Given the description of an element on the screen output the (x, y) to click on. 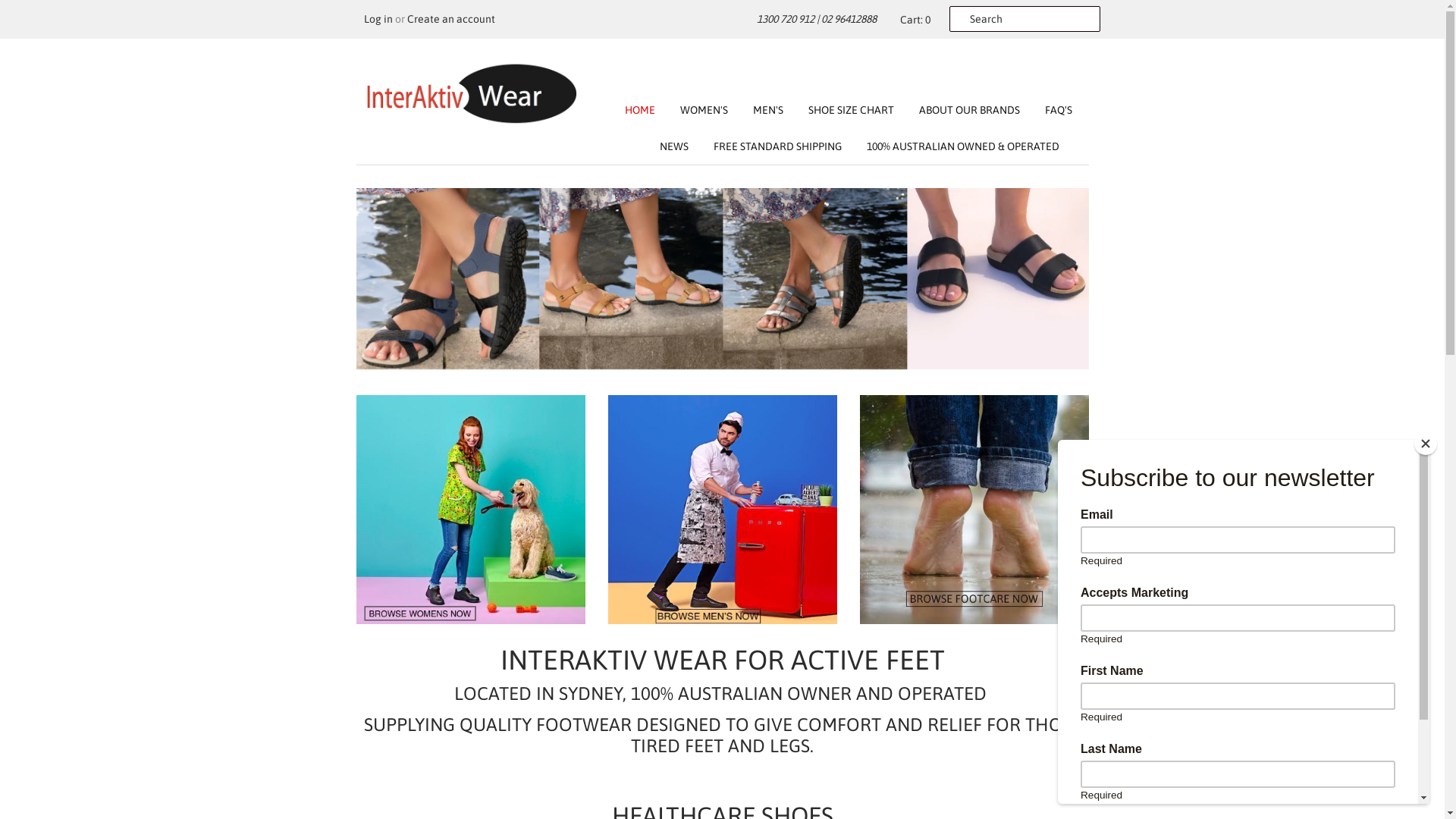
100% AUSTRALIAN OWNED & OPERATED Element type: text (951, 146)
NEWS Element type: text (662, 146)
Log in Element type: text (378, 18)
WOMEN'S Element type: text (691, 109)
FREE STANDARD SHIPPING Element type: text (765, 146)
Cart: 0 Element type: text (911, 19)
FAQ'S Element type: text (1047, 109)
1300 720 912 Element type: text (785, 18)
SHOE SIZE CHART Element type: text (839, 109)
ABOUT OUR BRANDS Element type: text (957, 109)
Create an account Element type: text (450, 18)
MEN'S Element type: text (755, 109)
02 96412888 Element type: text (847, 18)
HOME Element type: text (639, 109)
